Given the description of an element on the screen output the (x, y) to click on. 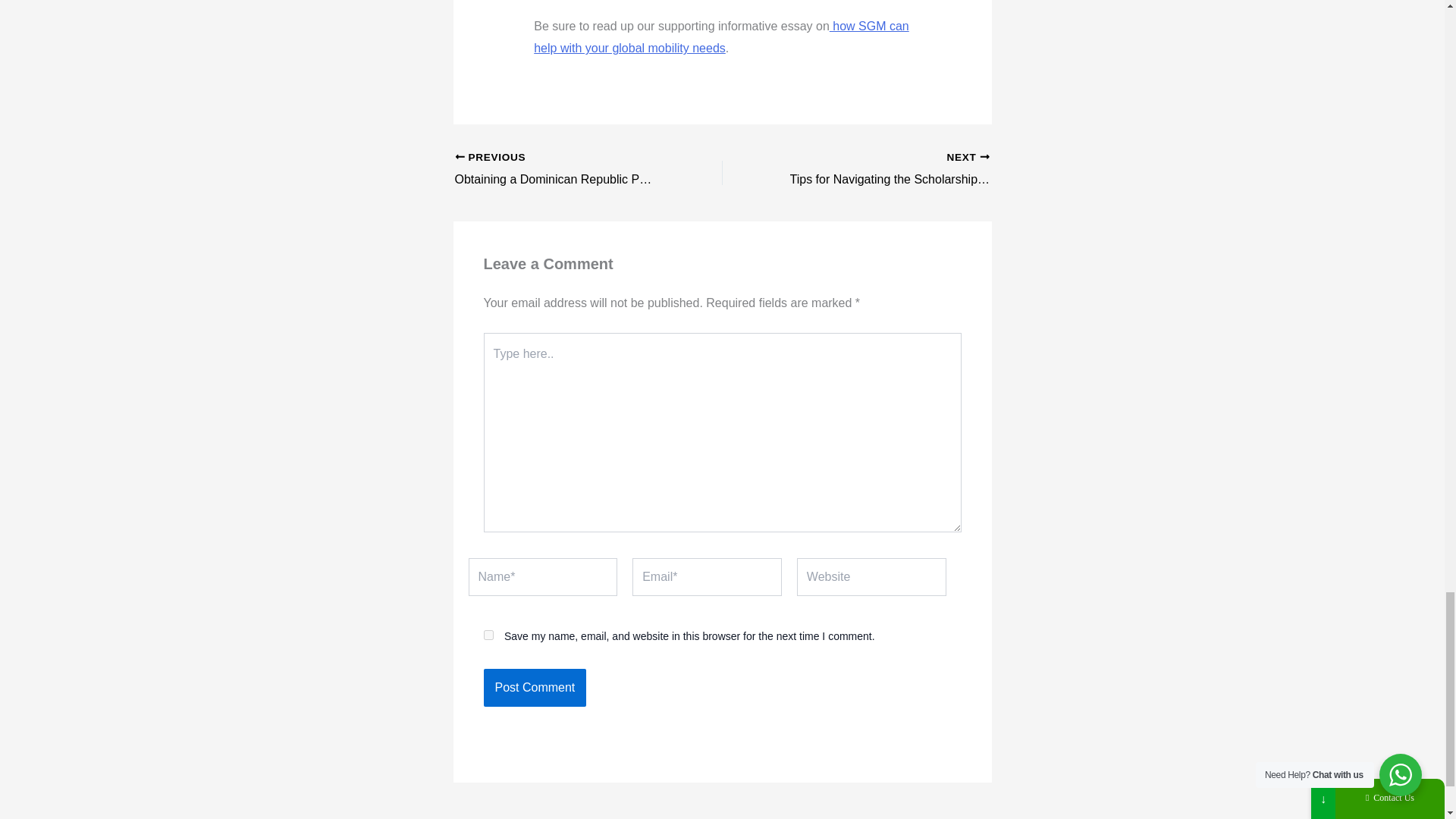
Post Comment (534, 687)
yes (488, 634)
